Given the description of an element on the screen output the (x, y) to click on. 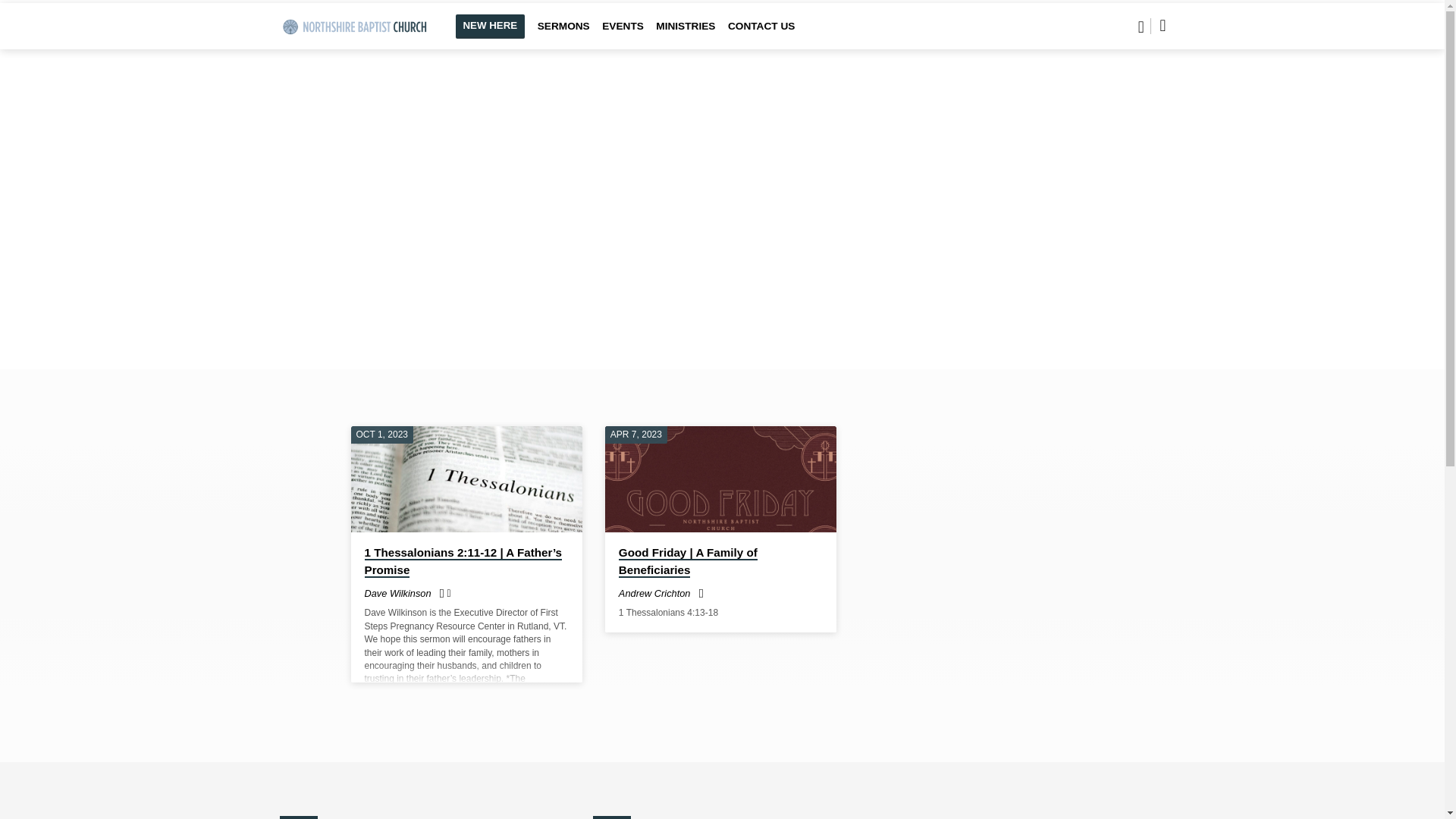
NEW HERE (489, 25)
SERMONS (563, 35)
MINISTRIES (685, 35)
EVENTS (622, 35)
CONTACT US (761, 35)
